Given the description of an element on the screen output the (x, y) to click on. 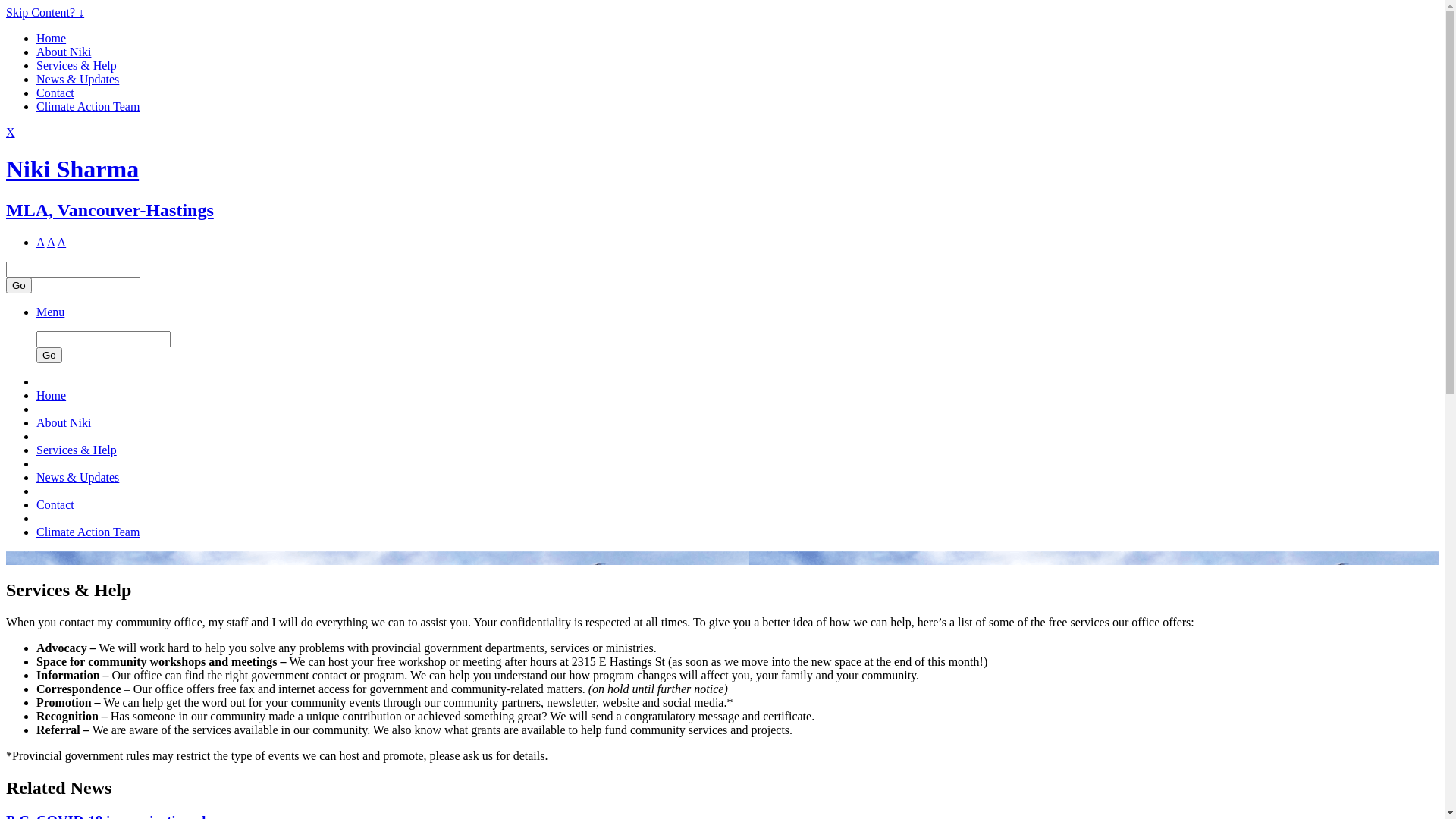
Climate Action Team Element type: text (87, 106)
Climate Action Team Element type: text (87, 531)
Home Element type: text (50, 395)
Contact Element type: text (55, 504)
Go Element type: text (49, 355)
A Element type: text (51, 241)
Services & Help Element type: text (76, 449)
A Element type: text (61, 241)
Go Element type: text (18, 285)
MLA, Vancouver-Hastings Element type: text (109, 209)
News & Updates Element type: text (77, 476)
Services & Help Element type: text (76, 65)
X Element type: text (10, 131)
Menu Element type: text (50, 311)
News & Updates Element type: text (77, 78)
Niki Sharma Element type: text (72, 168)
A Element type: text (40, 241)
About Niki Element type: text (63, 422)
Contact Element type: text (55, 92)
Home Element type: text (50, 37)
About Niki Element type: text (63, 51)
